Given the description of an element on the screen output the (x, y) to click on. 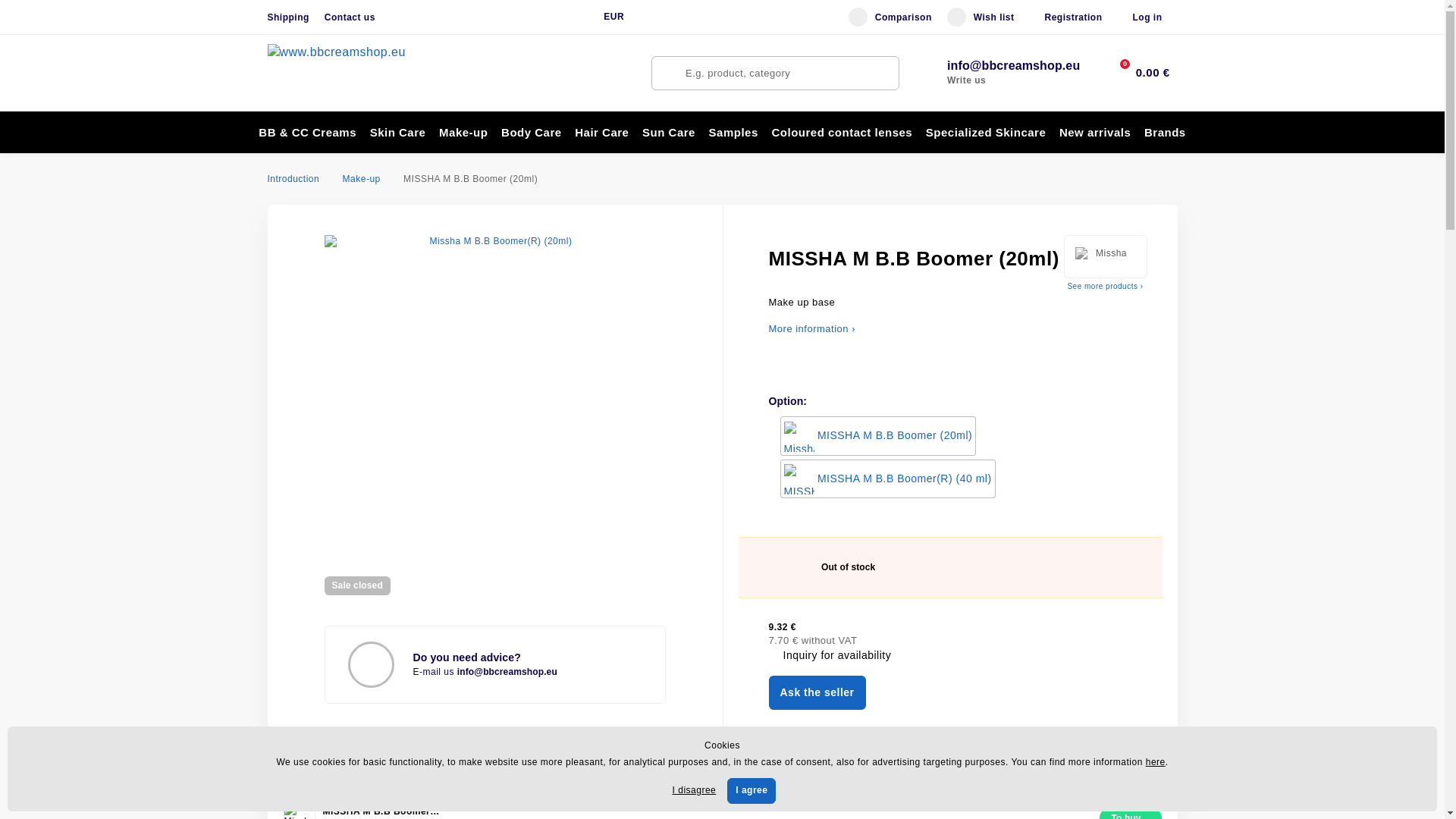
Contact us (349, 17)
Samples (733, 132)
Sun Care (667, 132)
Wish list (980, 16)
Skin Care (397, 132)
Body Care (531, 132)
EUR (611, 16)
Coloured contact lenses (841, 132)
Registration (1072, 16)
Shipping (287, 17)
Comparison (889, 16)
New arrivals (1094, 132)
Make-up (463, 132)
Go to the home page (353, 73)
Hair Care (600, 132)
